Given the description of an element on the screen output the (x, y) to click on. 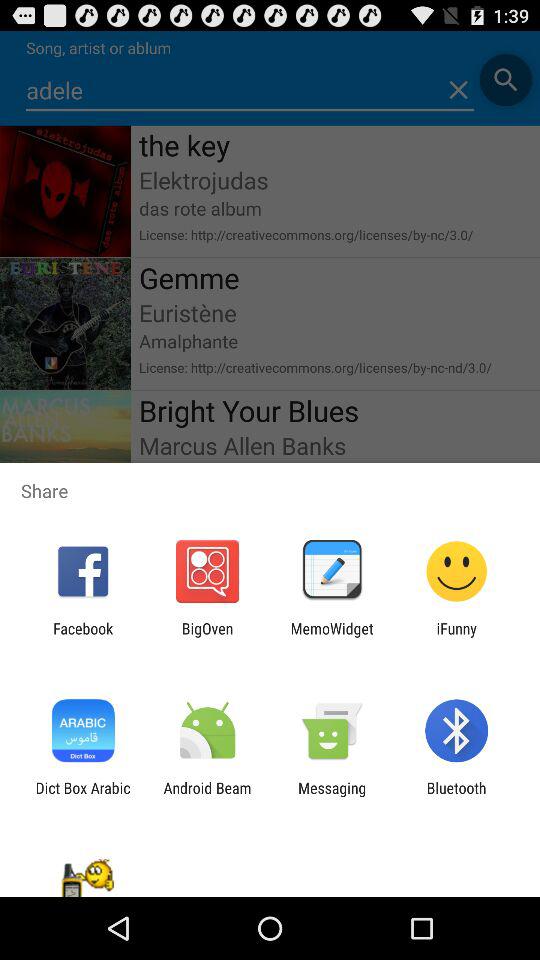
tap bigoven app (207, 637)
